Given the description of an element on the screen output the (x, y) to click on. 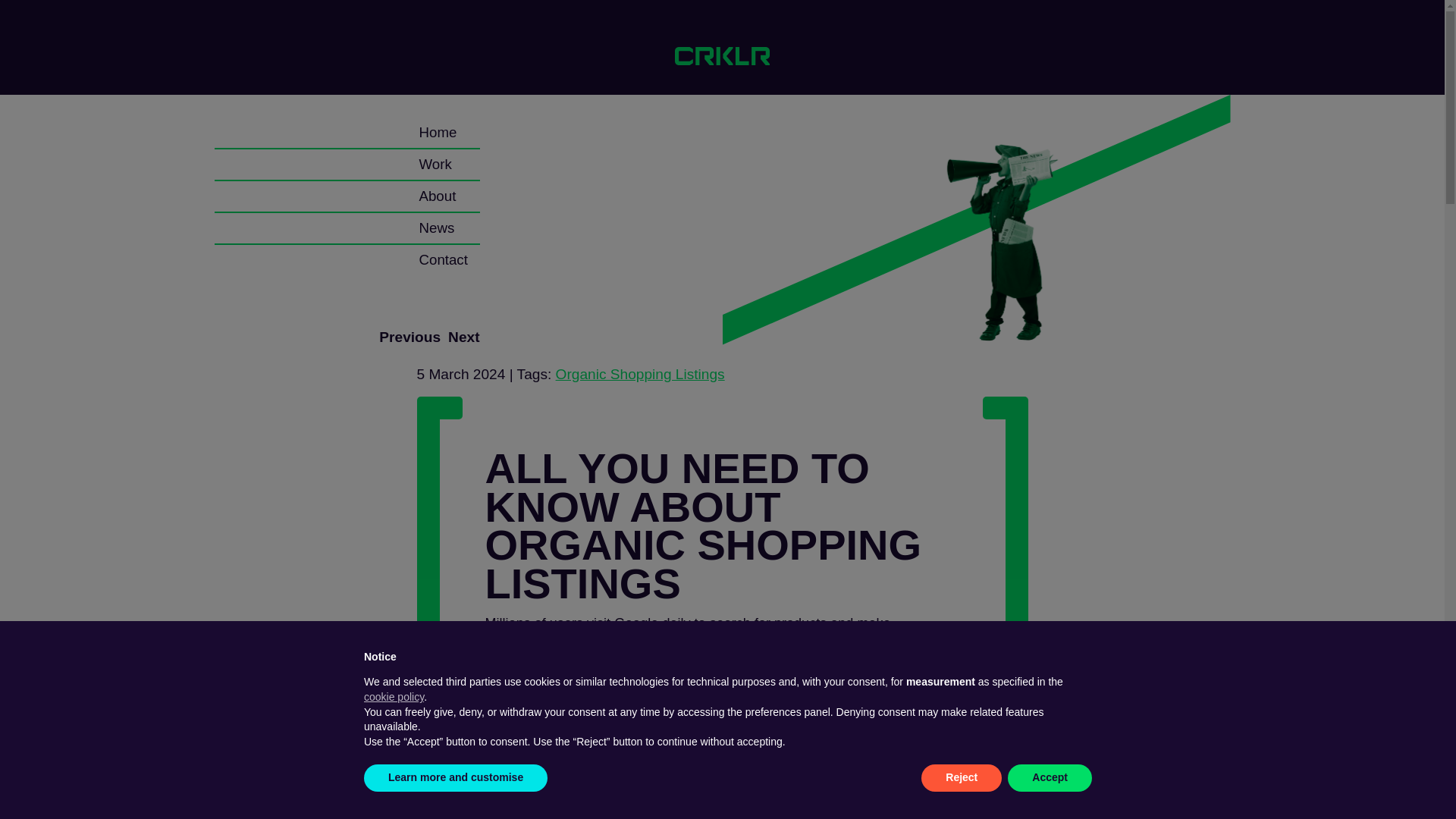
About (437, 196)
Home (438, 133)
Next (463, 337)
Previous (409, 337)
Reject (961, 777)
cookie policy (393, 696)
Organic Shopping Listings (640, 374)
News (436, 228)
Work (435, 164)
Learn more and customise (455, 777)
Accept (1049, 777)
Contact (443, 260)
